Given the description of an element on the screen output the (x, y) to click on. 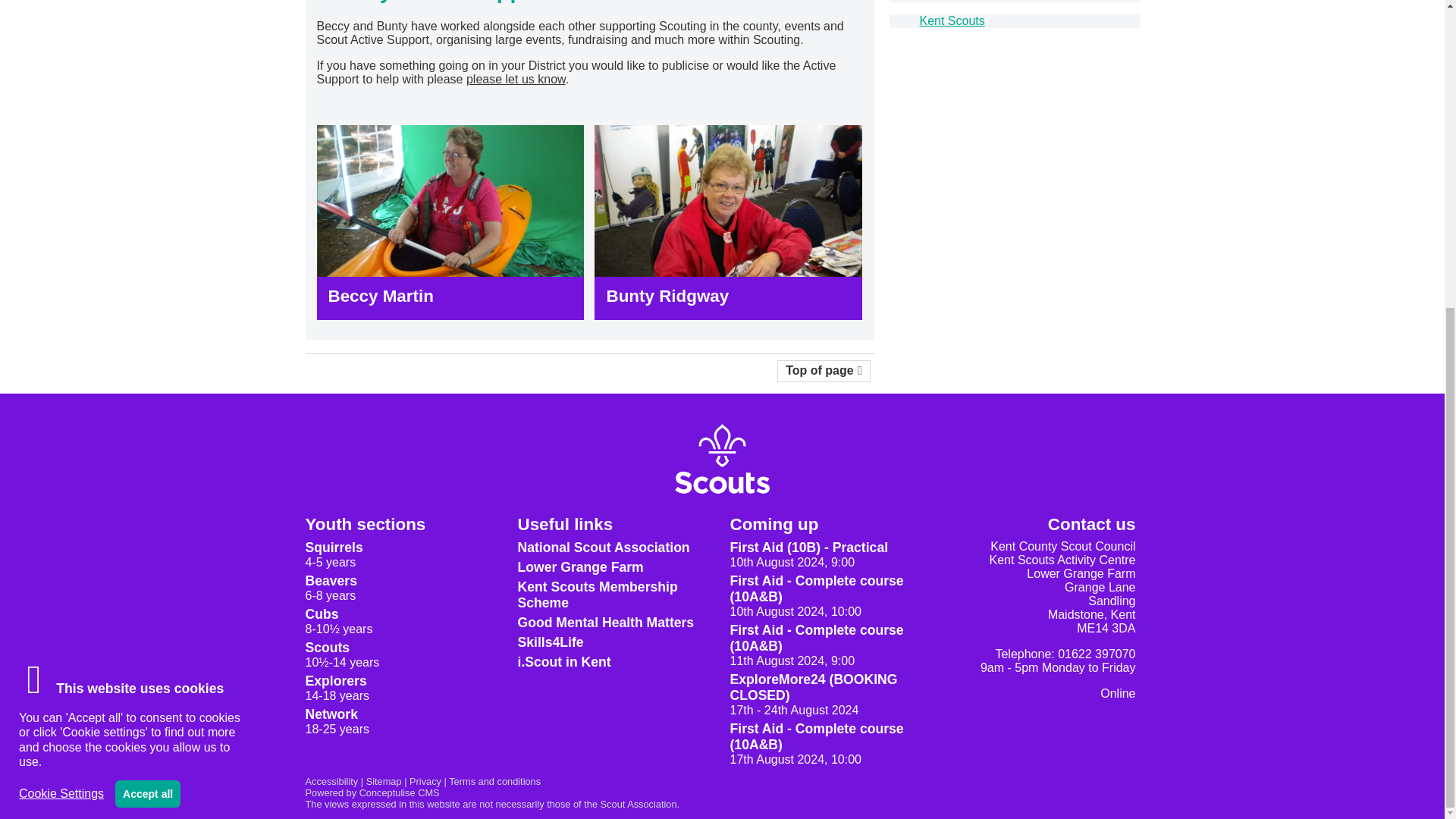
Conceptulise Content Management System (371, 792)
Website privacy statement (425, 781)
Website site map (383, 781)
Website Accessibility (331, 781)
Website terms and conditions (494, 781)
